Given the description of an element on the screen output the (x, y) to click on. 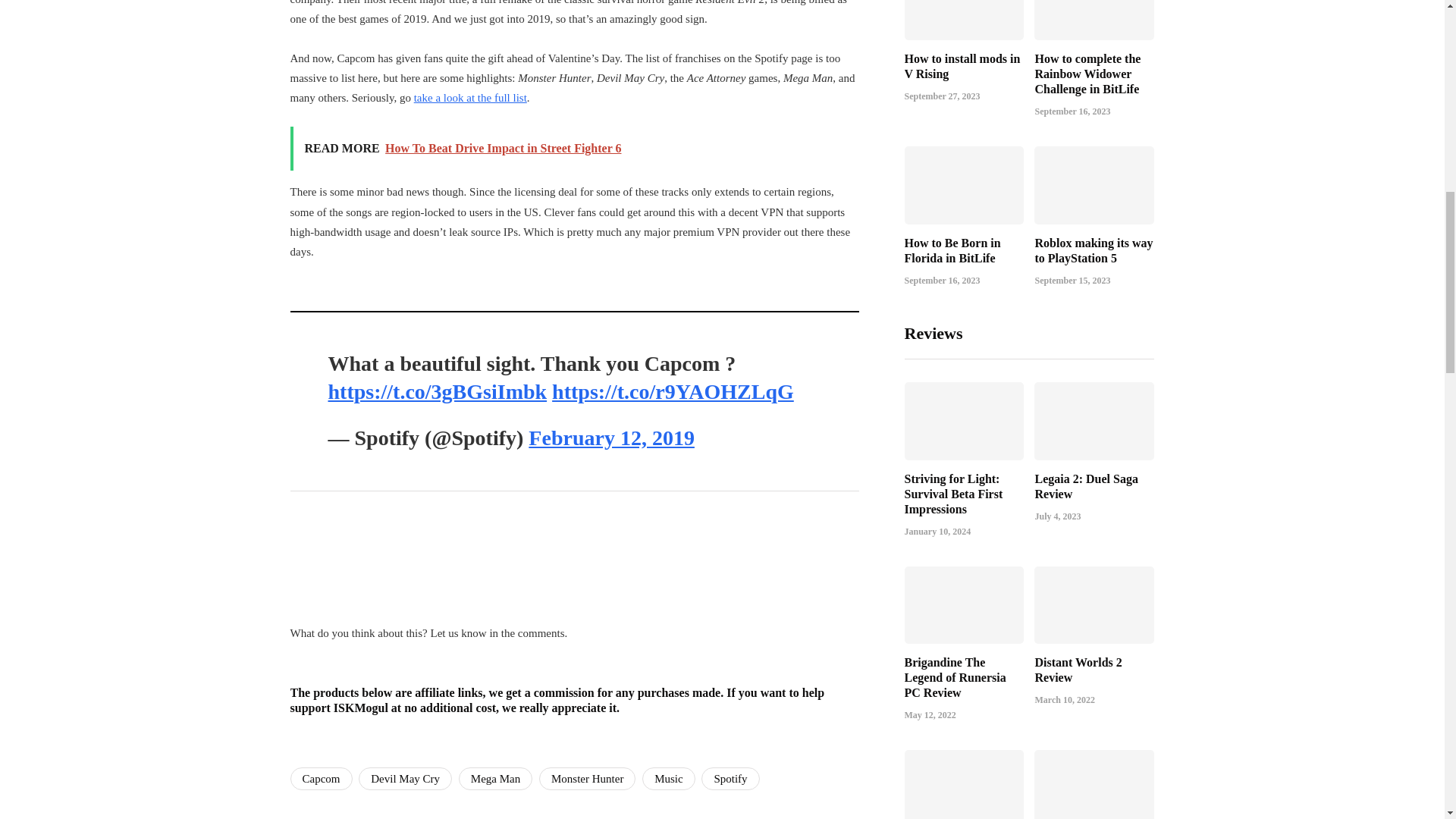
READ MORE  How To Beat Drive Impact in Street Fighter 6 (574, 148)
Monster Hunter (586, 778)
take a look at the full list (470, 97)
Spotify (729, 778)
February 12, 2019 (611, 437)
Mega Man (495, 778)
Devil May Cry (404, 778)
Capcom (320, 778)
Music (668, 778)
